Given the description of an element on the screen output the (x, y) to click on. 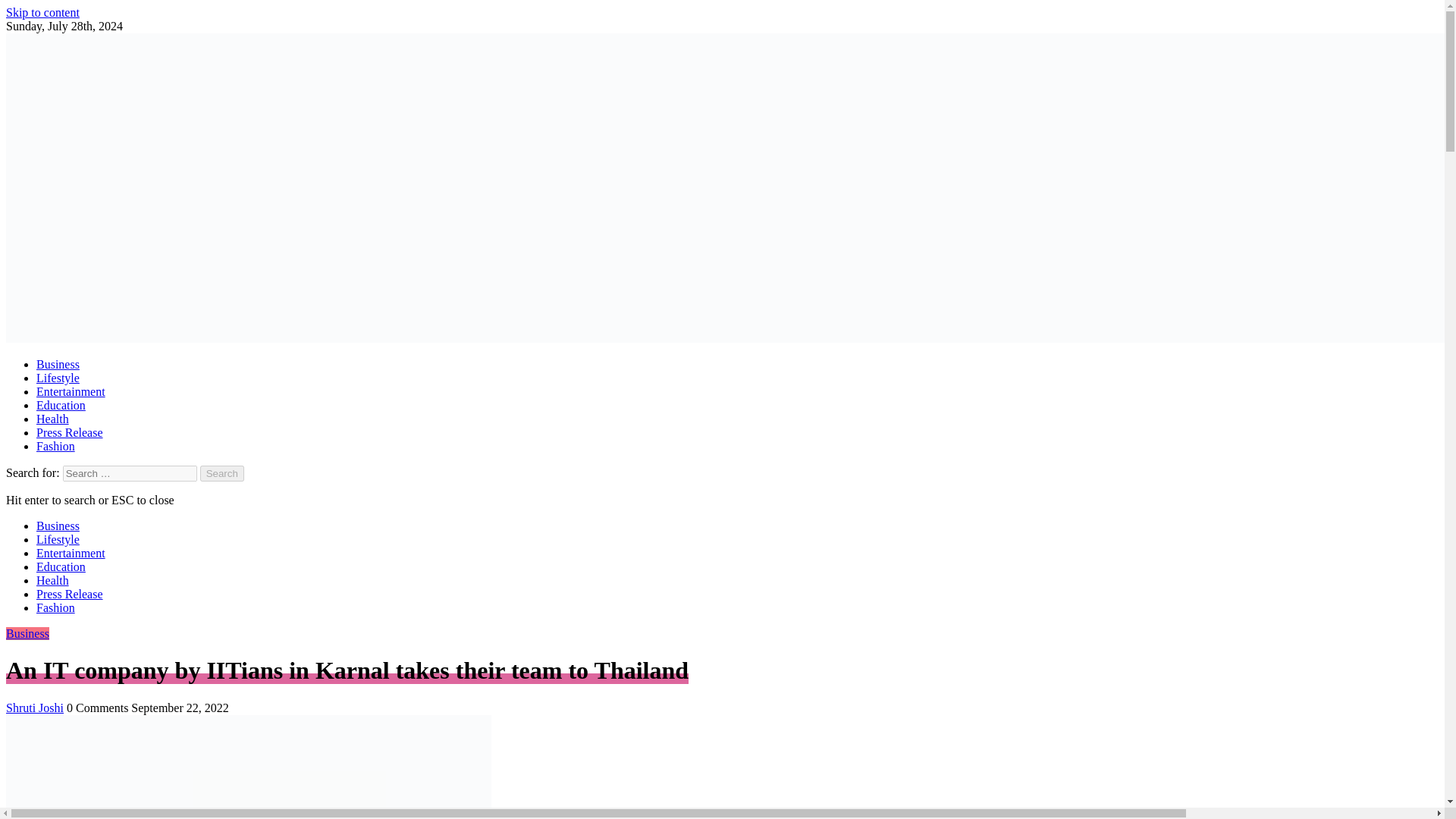
Business (58, 525)
Press Release (69, 594)
Fashion (55, 607)
Shruti Joshi (34, 707)
Business (58, 364)
Education (60, 404)
Lifestyle (58, 539)
Search (222, 473)
Entertainment (70, 553)
Search (222, 473)
Skip to content (42, 11)
Entertainment (70, 391)
Business (27, 633)
Lifestyle (58, 377)
Health (52, 418)
